Given the description of an element on the screen output the (x, y) to click on. 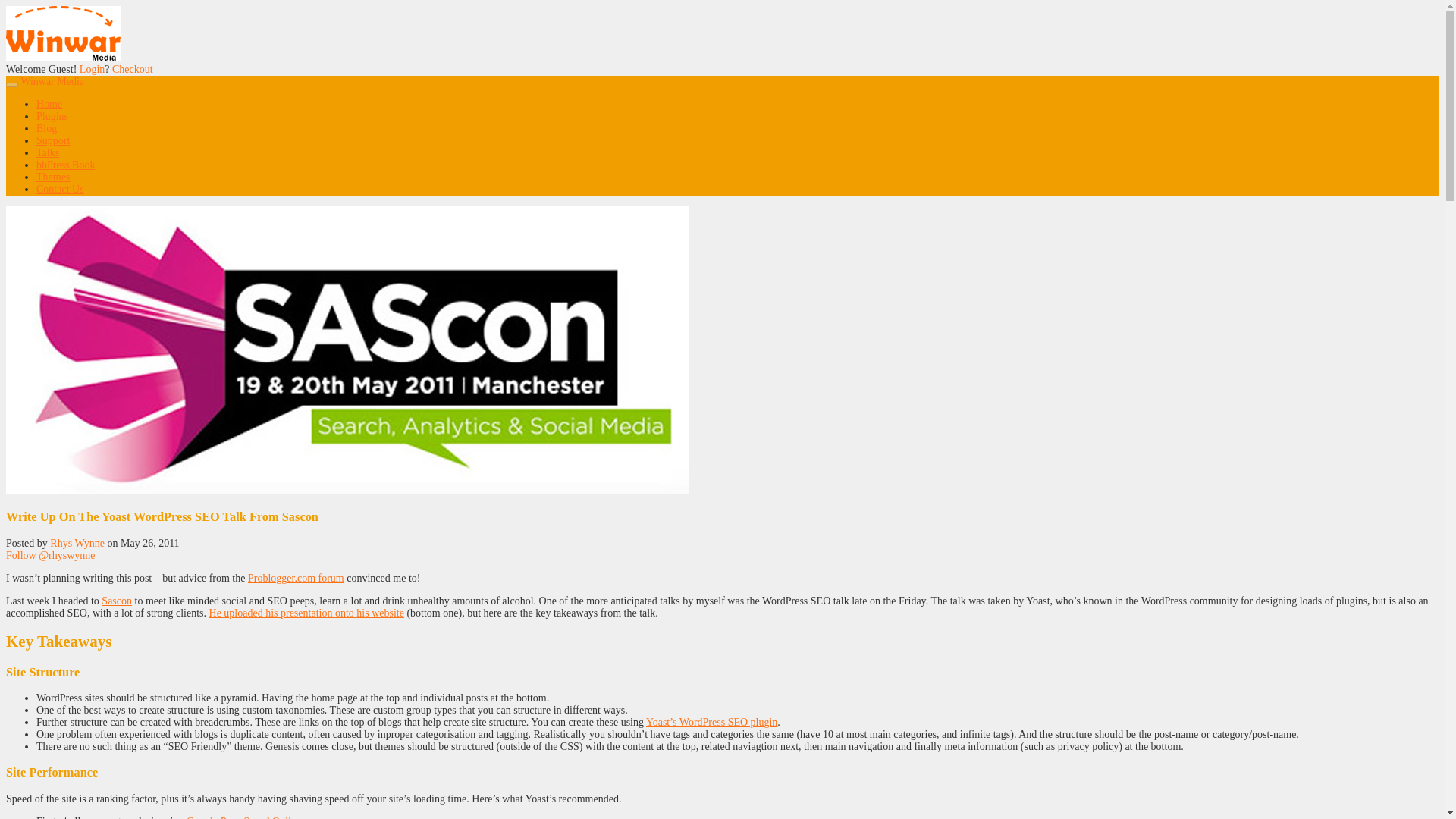
Themes (52, 176)
Plugins (52, 116)
Sascon (116, 600)
Posts by Rhys Wynne (76, 542)
Support (52, 140)
He uploaded his presentation onto his website (306, 613)
Winwar Media (52, 81)
Contact Us (60, 188)
Checkout (132, 69)
bbPress Book (65, 164)
Blog (46, 128)
Rhys Wynne (76, 542)
Google Page Speed Online (243, 817)
Login (92, 69)
Talks (47, 152)
